Given the description of an element on the screen output the (x, y) to click on. 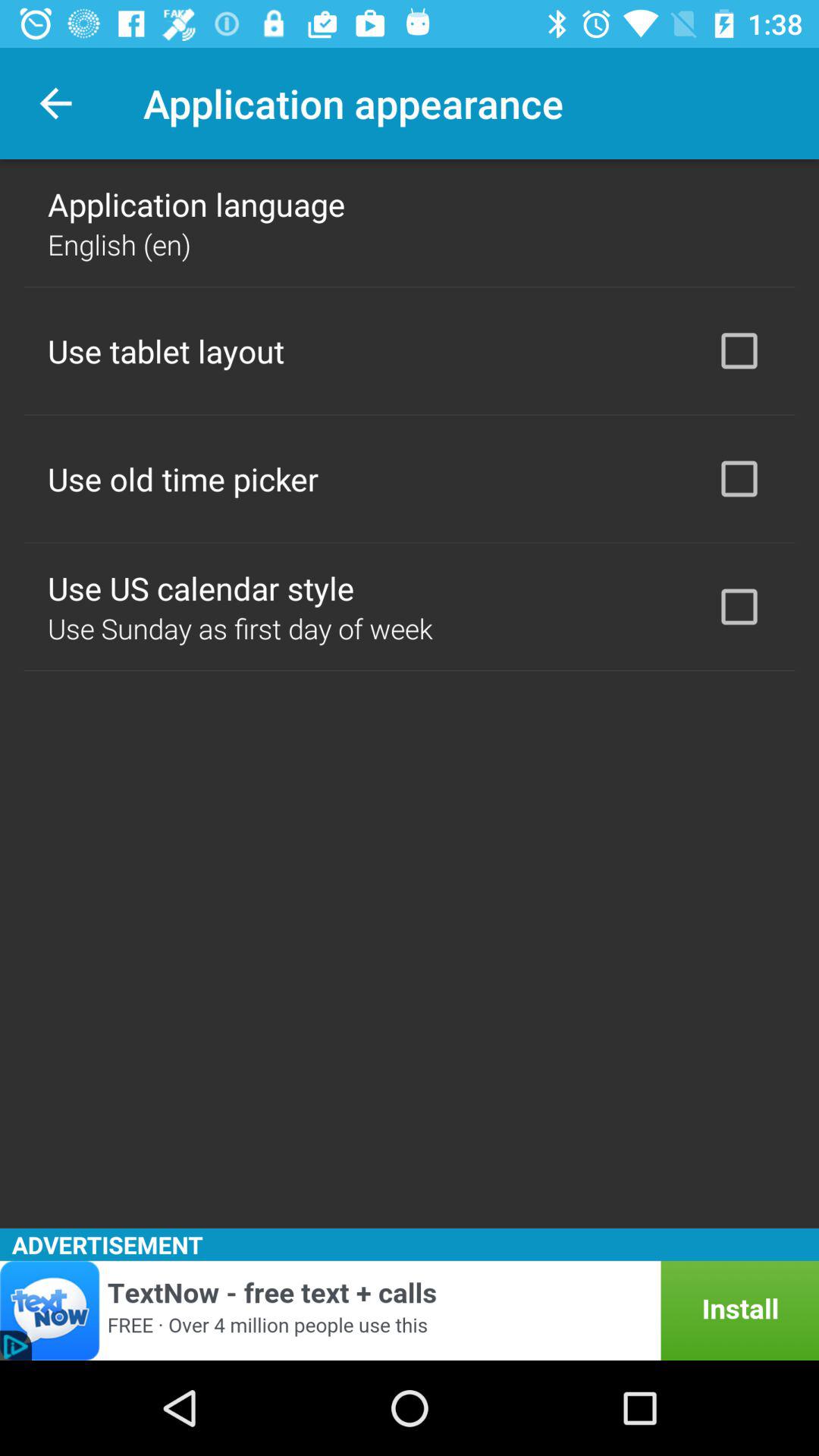
toggle us calendar style (739, 606)
